Given the description of an element on the screen output the (x, y) to click on. 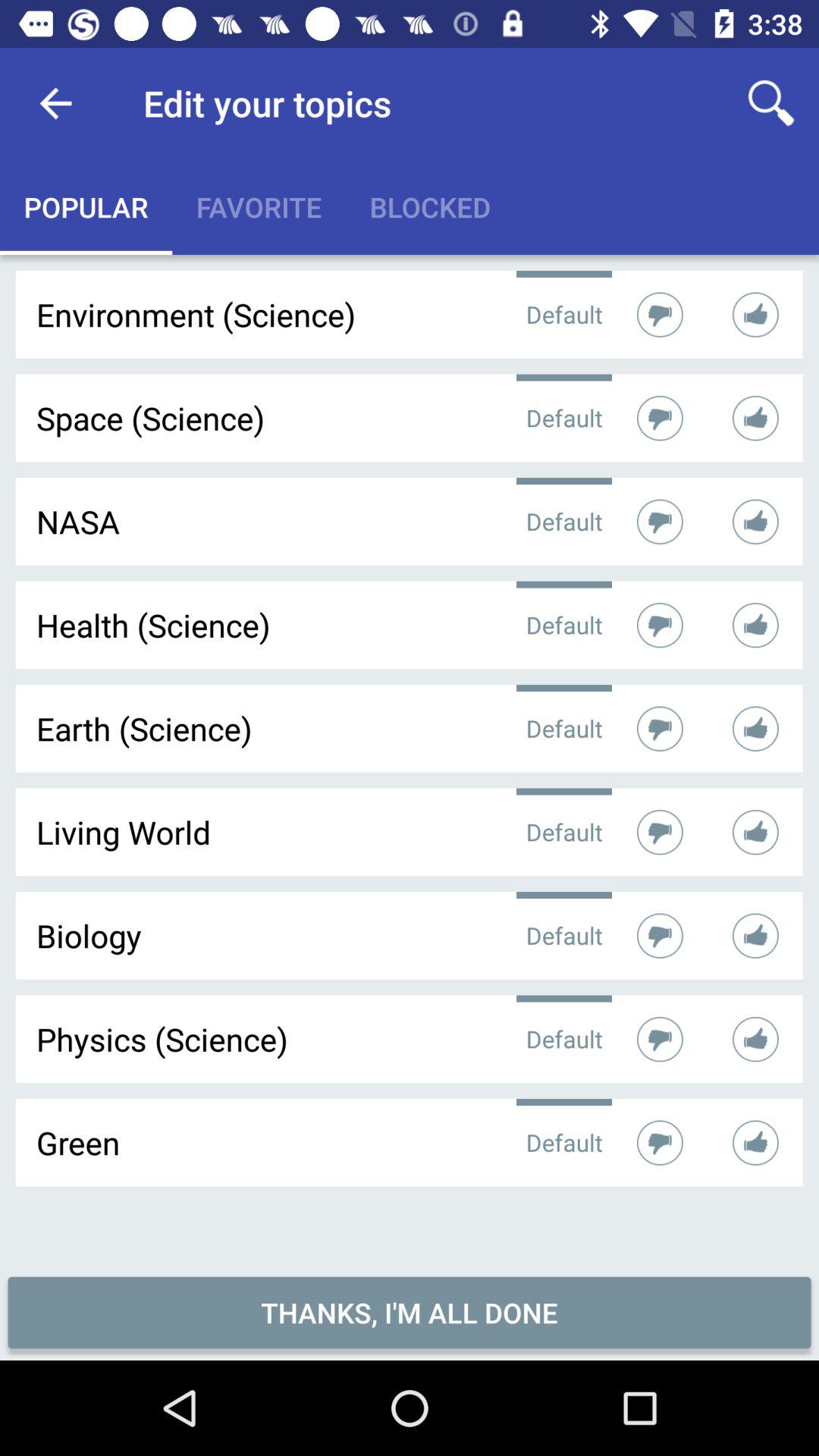
click the item below default icon (409, 1312)
